Given the description of an element on the screen output the (x, y) to click on. 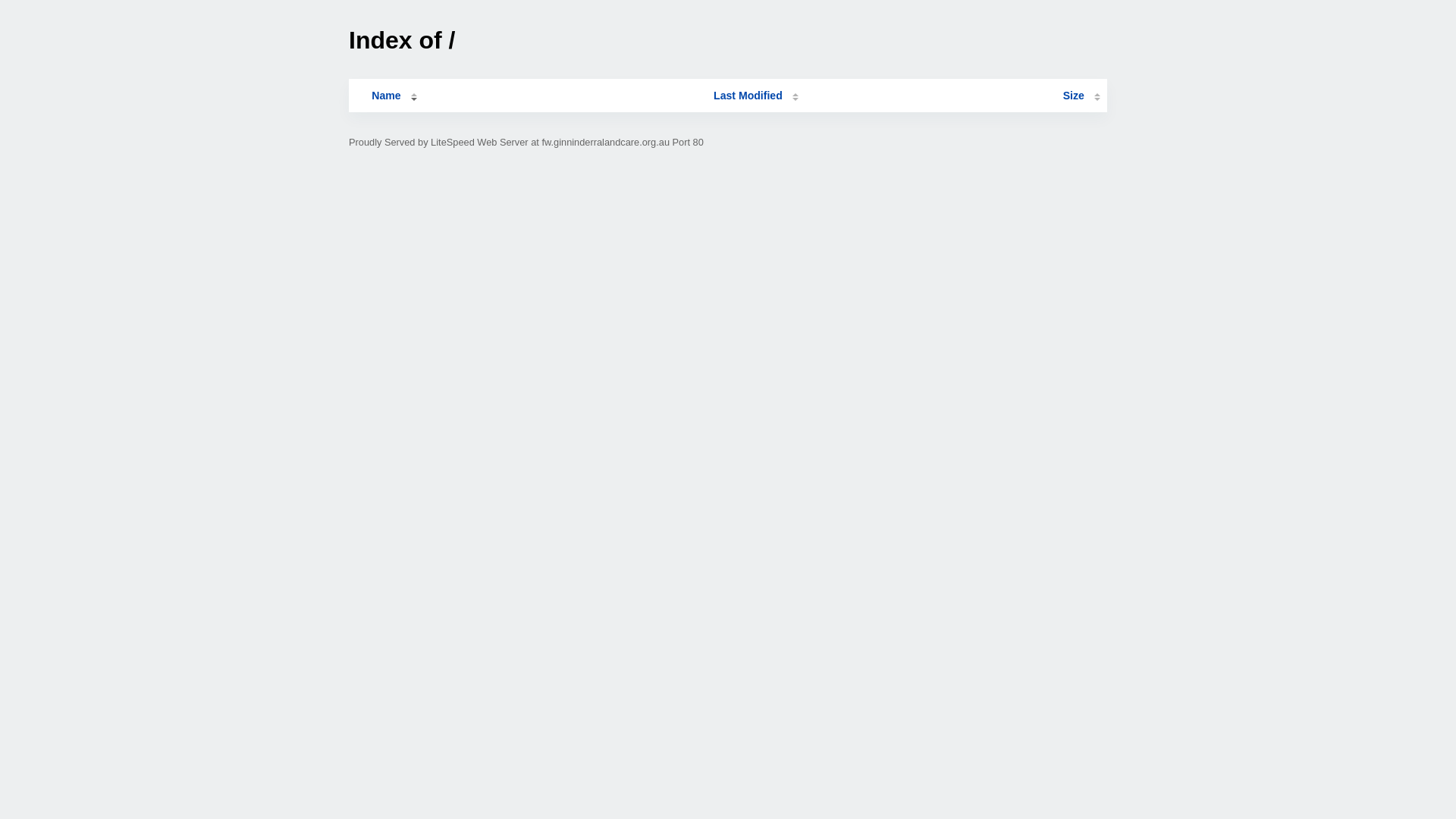
Last Modified Element type: text (755, 95)
Size Element type: text (1081, 95)
Name Element type: text (385, 95)
